Given the description of an element on the screen output the (x, y) to click on. 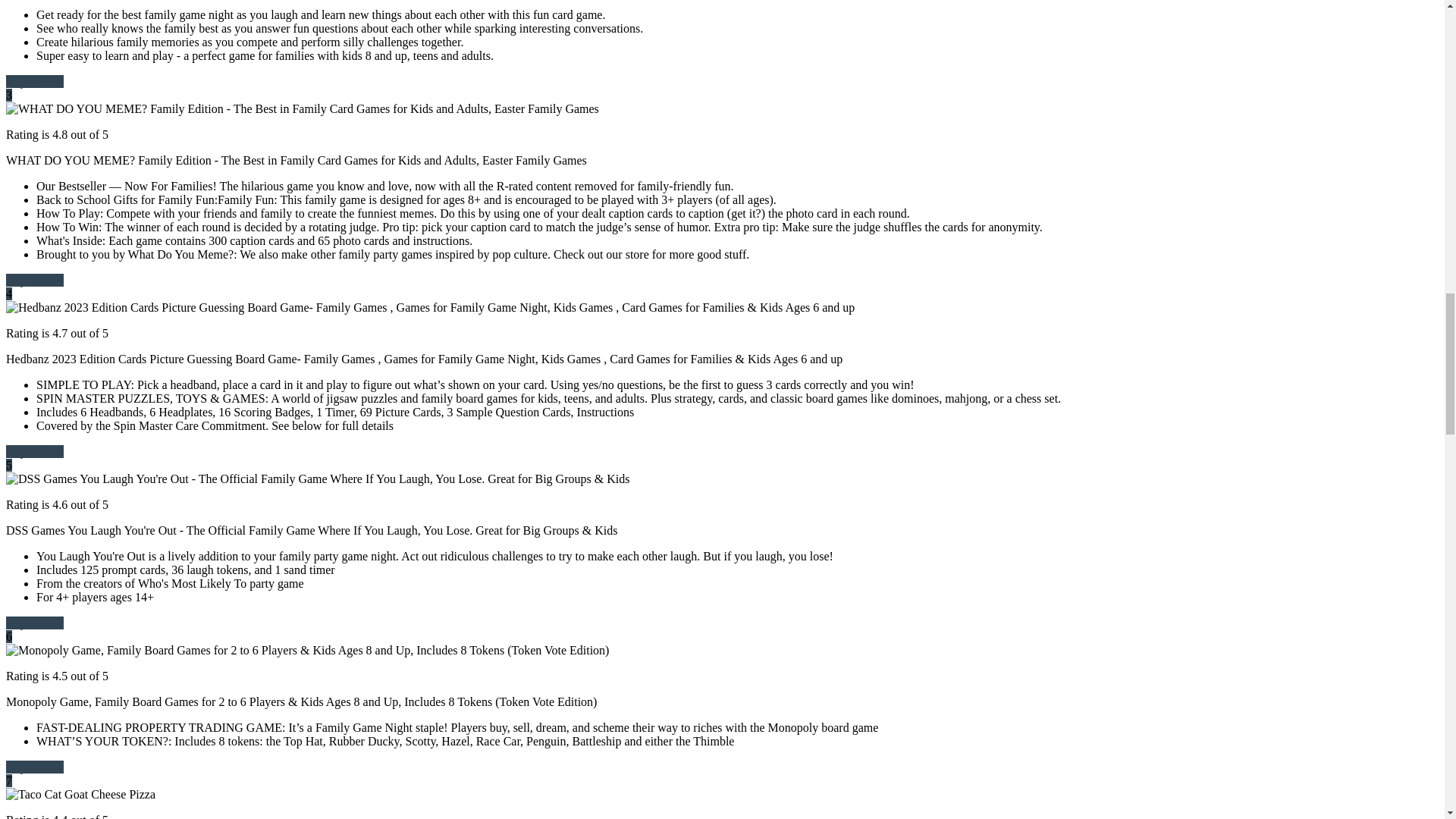
Buy It Now (34, 451)
Buy It Now (34, 279)
Buy It Now (34, 622)
Buy It Now (34, 766)
Buy It Now (34, 81)
